Given the description of an element on the screen output the (x, y) to click on. 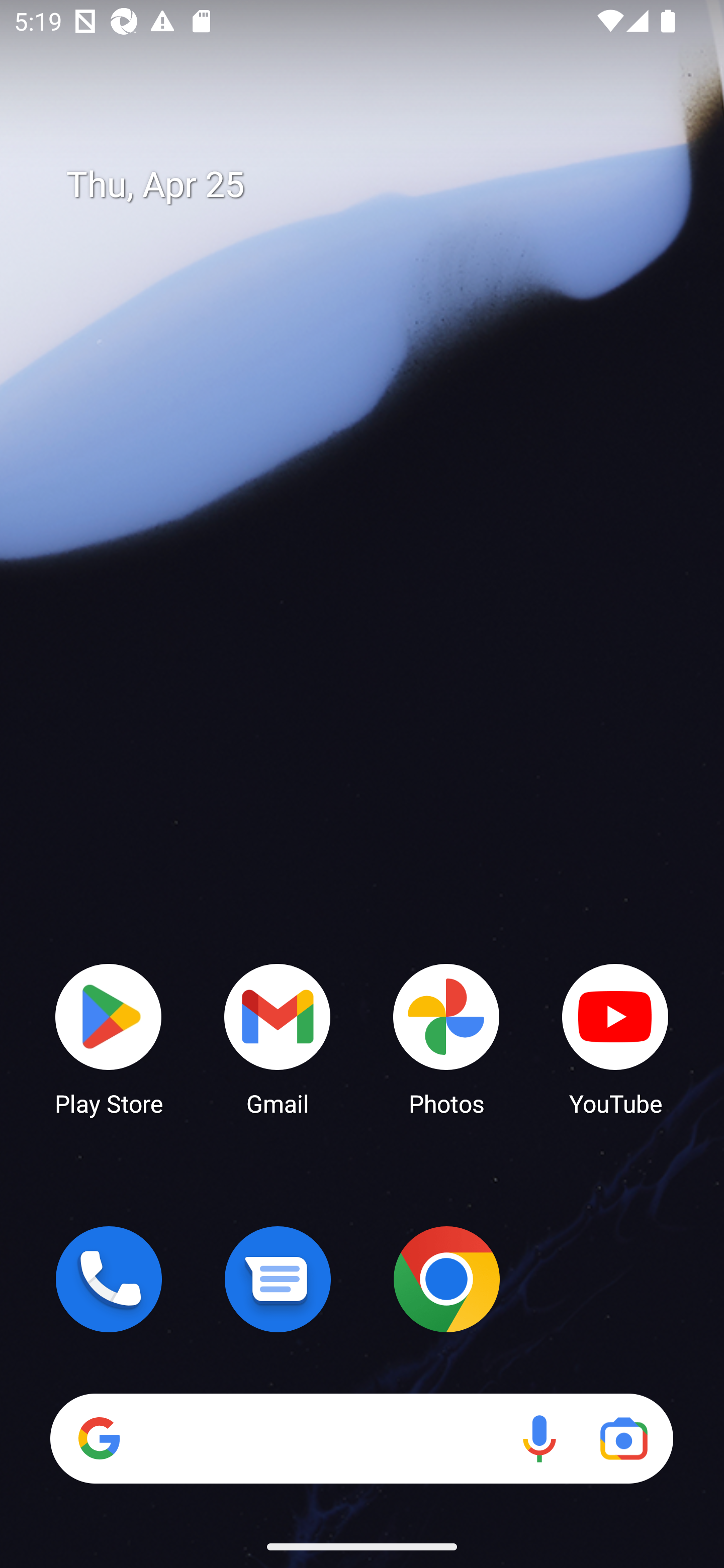
Thu, Apr 25 (375, 184)
Play Store (108, 1038)
Gmail (277, 1038)
Photos (445, 1038)
YouTube (615, 1038)
Phone (108, 1279)
Messages (277, 1279)
Chrome (446, 1279)
Search Voice search Google Lens (361, 1438)
Voice search (539, 1438)
Google Lens (623, 1438)
